Given the description of an element on the screen output the (x, y) to click on. 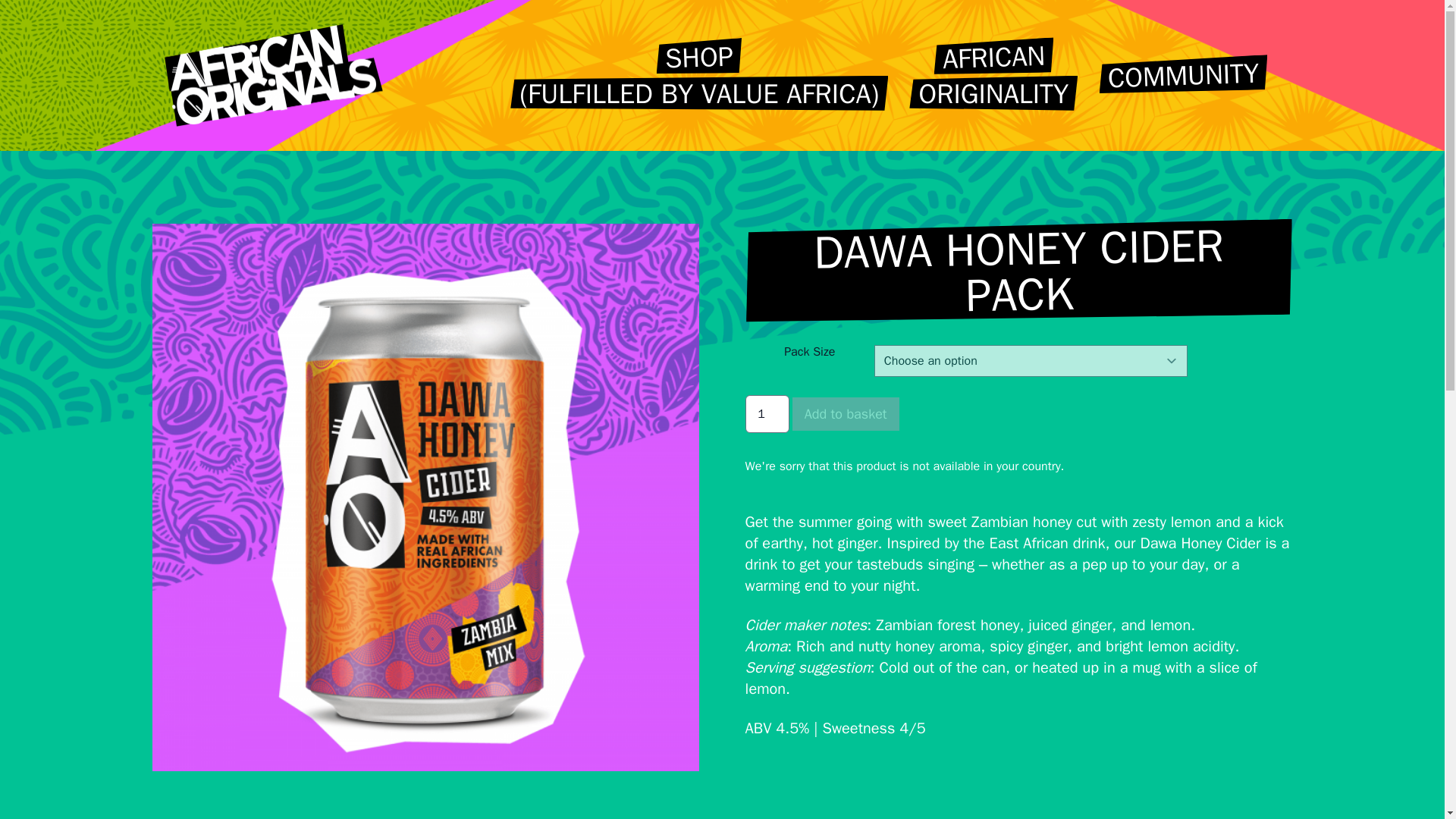
Add to basket (845, 413)
COMMUNITY (1183, 75)
African Originals (272, 75)
1 (767, 413)
